Given the description of an element on the screen output the (x, y) to click on. 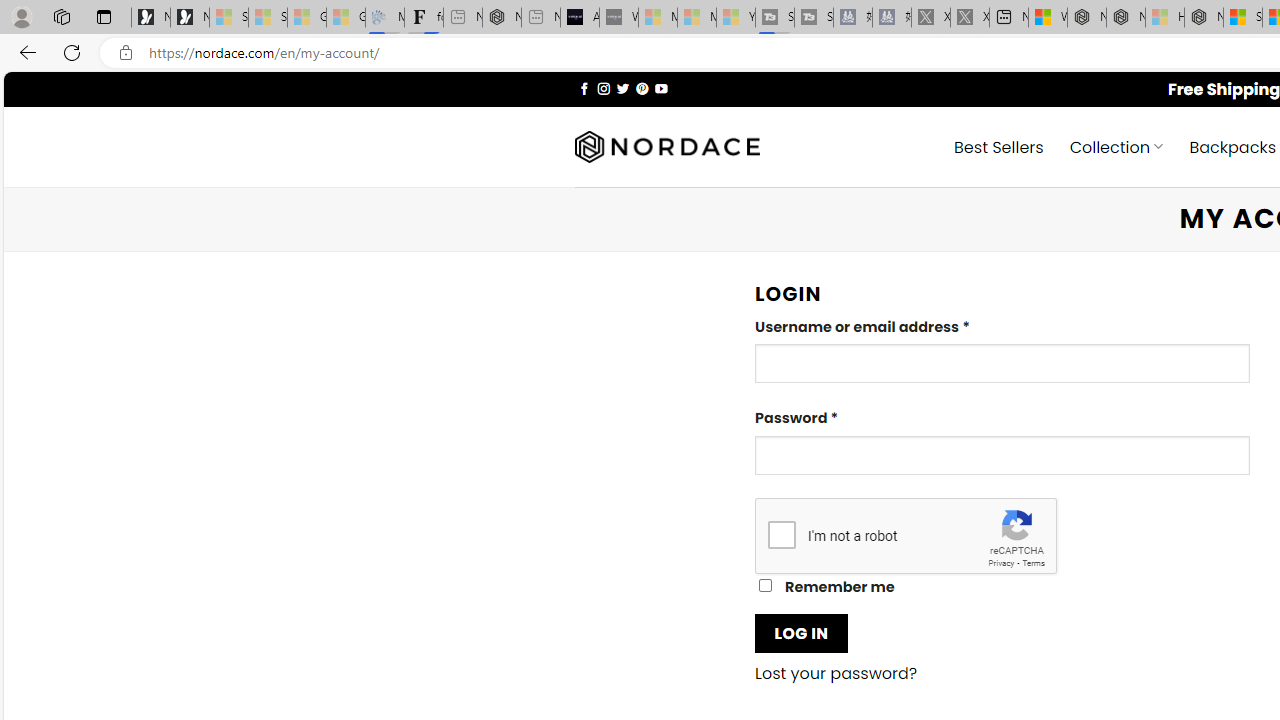
  Best Sellers (998, 146)
